Given the description of an element on the screen output the (x, y) to click on. 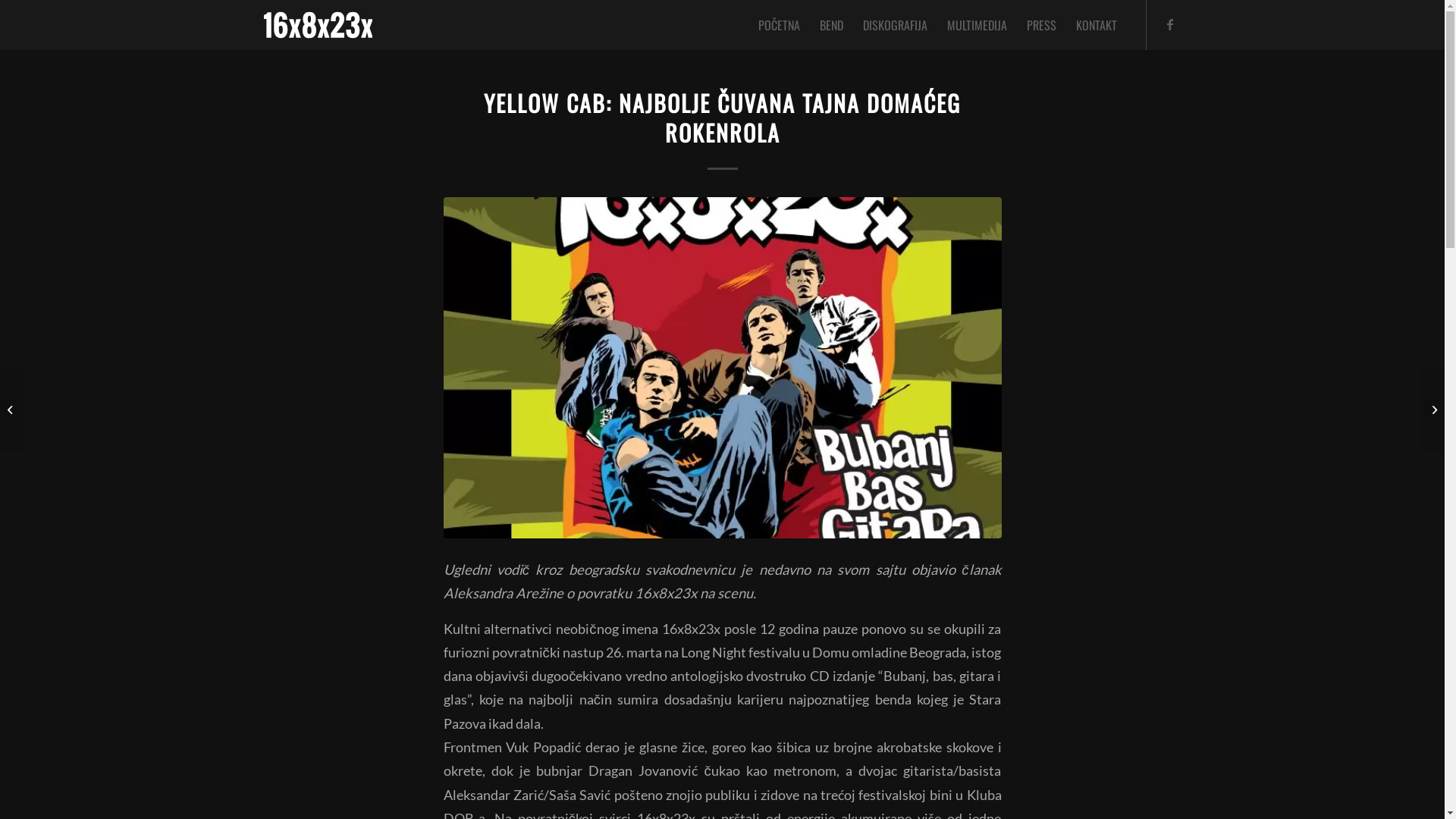
MULTIMEDIJA Element type: text (976, 25)
PRESS Element type: text (1040, 25)
Facebook Element type: hover (1169, 23)
DISKOGRAFIJA Element type: text (894, 25)
KONTAKT Element type: text (1096, 25)
BEND Element type: text (831, 25)
Bubanj bas gitara i glas Element type: hover (721, 367)
